Given the description of an element on the screen output the (x, y) to click on. 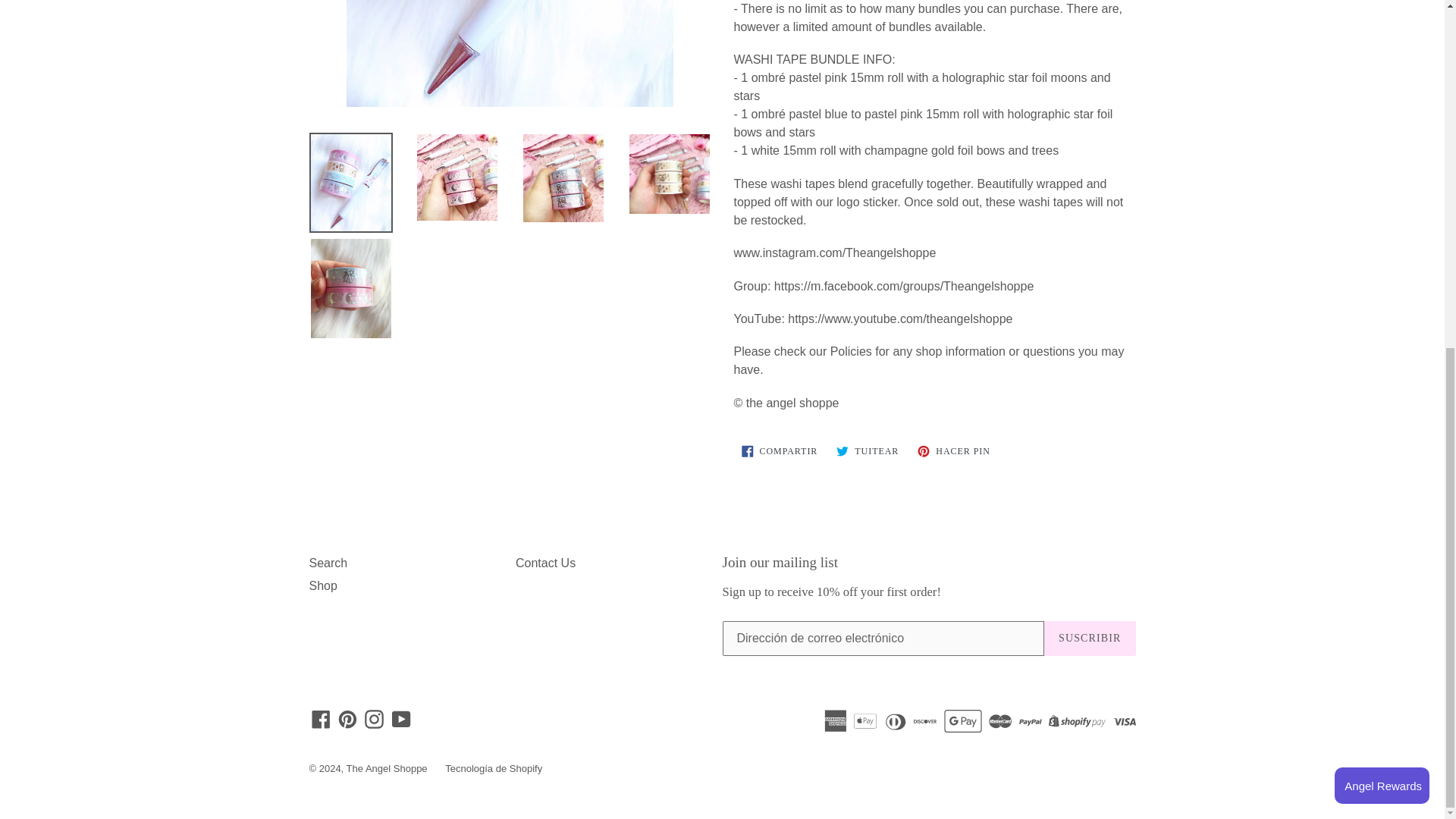
LoyaltyLion beacon (1382, 186)
